Given the description of an element on the screen output the (x, y) to click on. 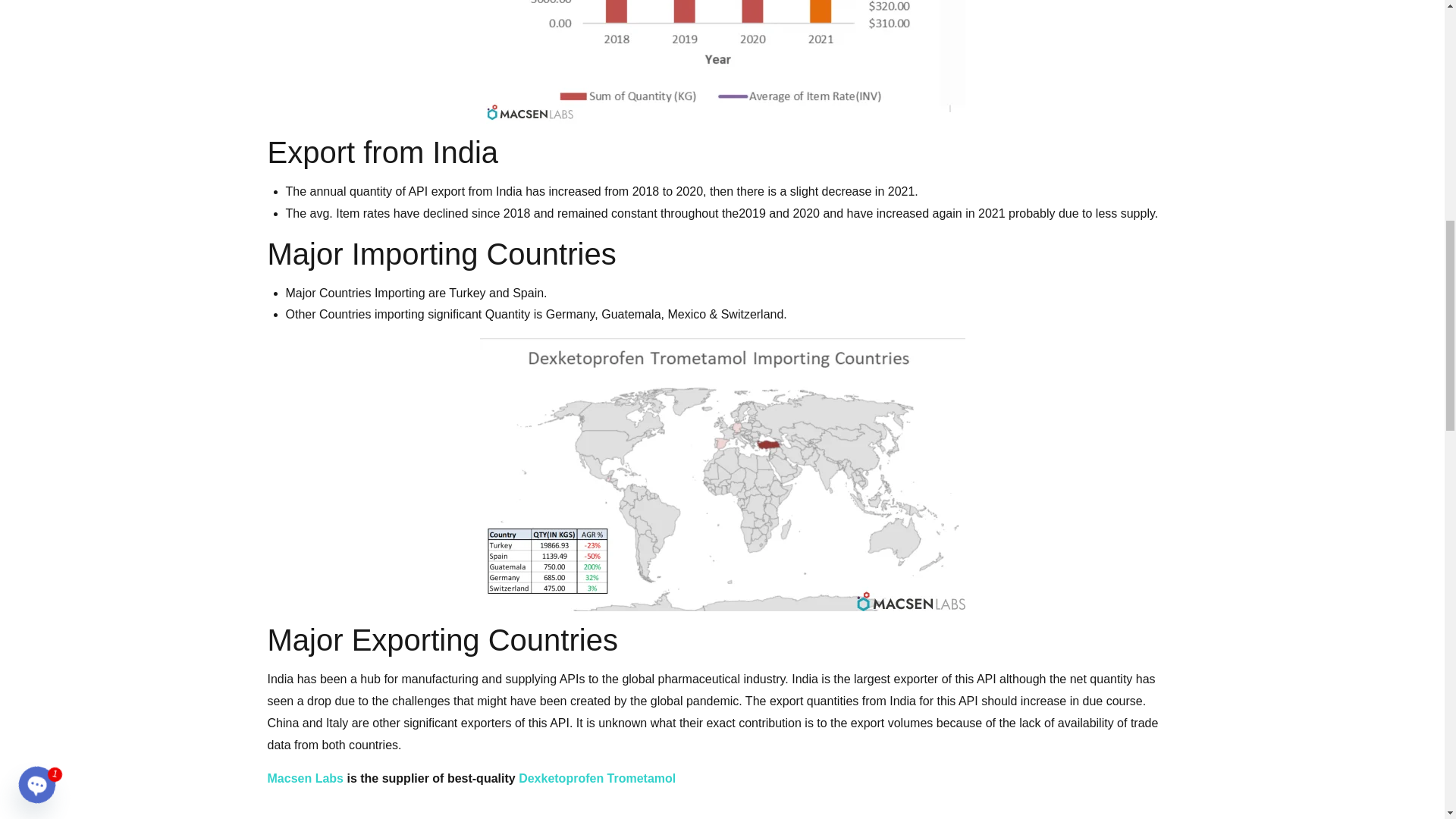
Macsen Labs (304, 778)
Dexketoprofen Trometamol (596, 778)
